Given the description of an element on the screen output the (x, y) to click on. 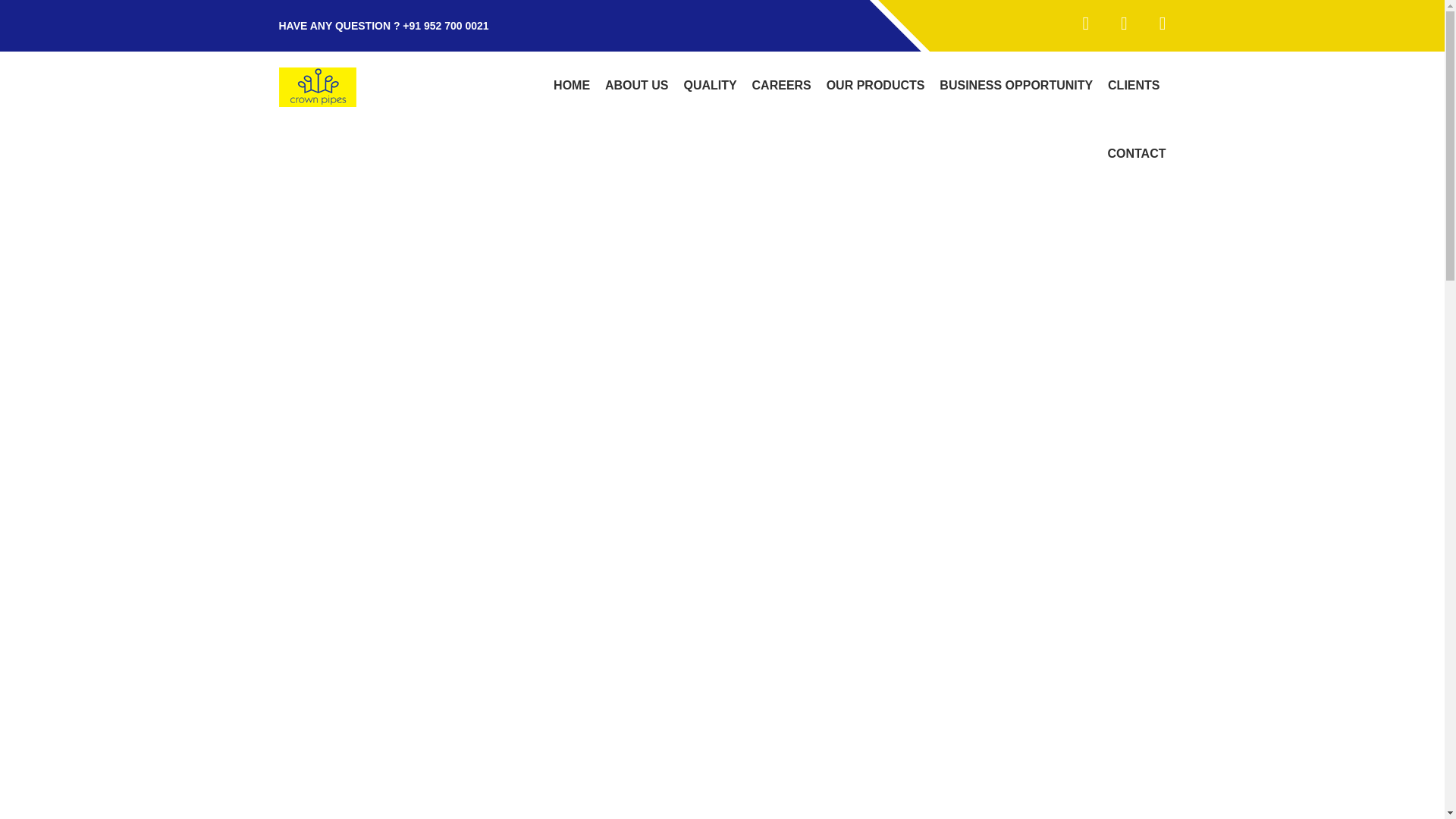
CLIENTS (1134, 85)
QUALITY (709, 85)
OUR PRODUCTS (876, 85)
BUSINESS OPPORTUNITY (1016, 85)
ABOUT US (636, 85)
CONTACT (1133, 153)
CAREERS (780, 85)
